Given the description of an element on the screen output the (x, y) to click on. 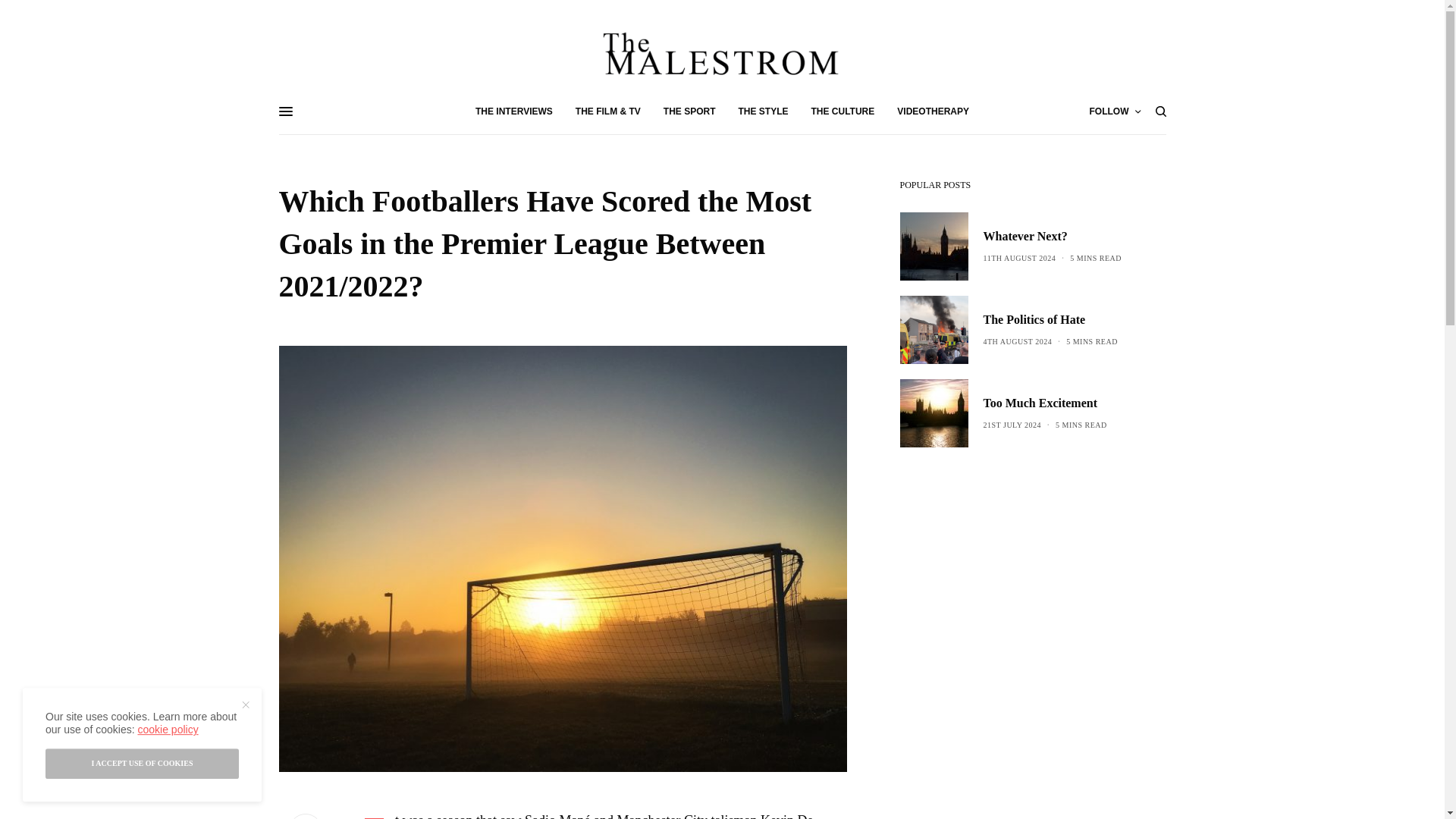
Whatever Next? (1051, 236)
The Politics of Hate (1049, 320)
THE CULTURE (842, 111)
The MALESTROM (721, 53)
THE SPORT (689, 111)
FOLLOW (1114, 111)
Too Much Excitement (1044, 402)
THE STYLE (762, 111)
VIDEOTHERAPY (932, 111)
THE INTERVIEWS (514, 111)
